Given the description of an element on the screen output the (x, y) to click on. 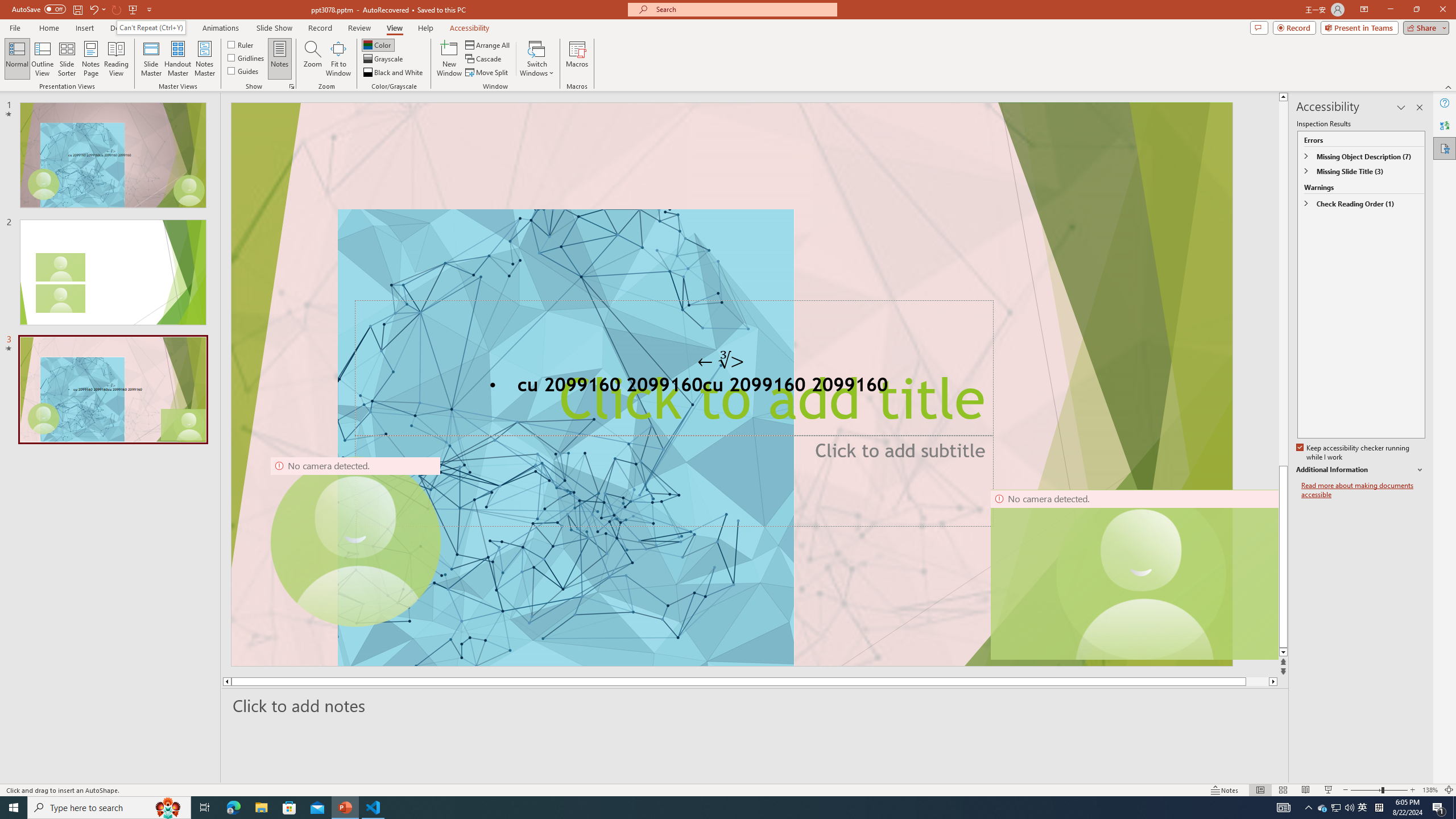
Switch Windows (537, 58)
Arrange All (488, 44)
Outline View (42, 58)
Notes Page (90, 58)
Can't Repeat (Ctrl+Y) (151, 27)
Camera 11, No camera detected. (1141, 574)
